Given the description of an element on the screen output the (x, y) to click on. 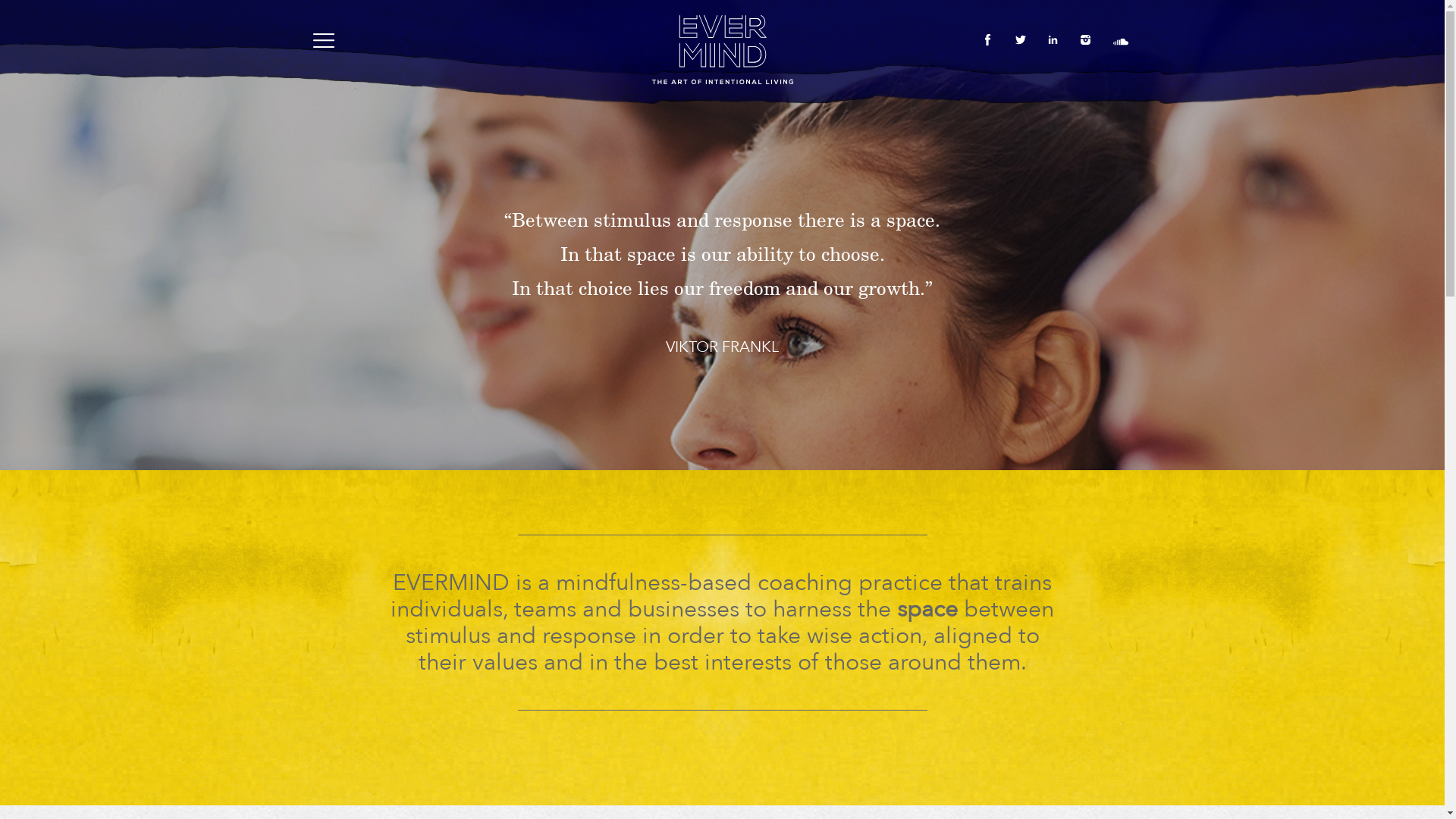
instagram Element type: text (1088, 39)
soundcloud Element type: text (1120, 41)
twitter Element type: text (1023, 39)
facebook Element type: text (991, 39)
linkedin Element type: text (1057, 39)
